Given the description of an element on the screen output the (x, y) to click on. 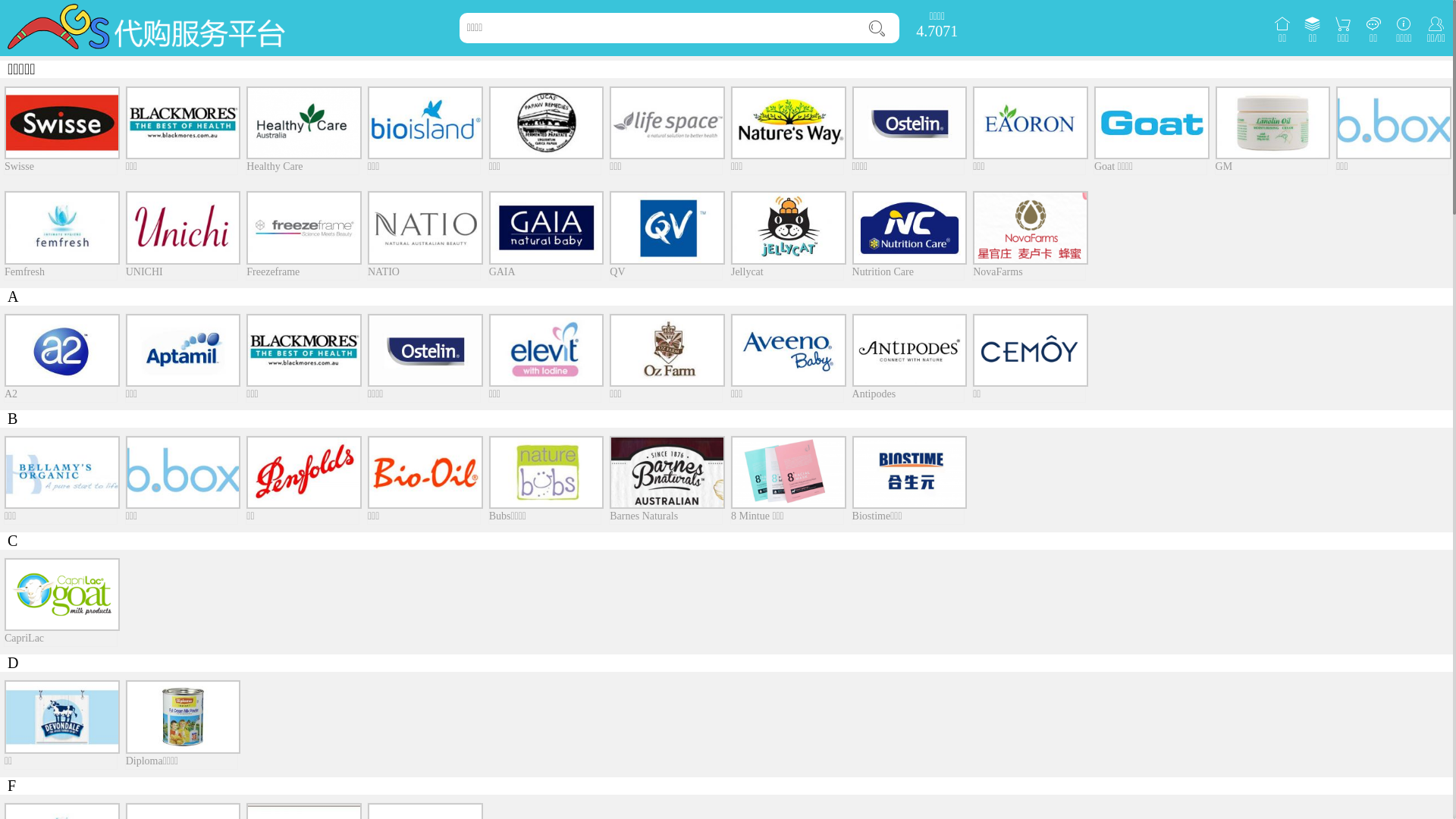
Femfresh Element type: text (60, 235)
NATIO Element type: text (423, 235)
Swisse Element type: text (60, 130)
Jellycat Element type: text (787, 235)
Barnes Naturals Element type: text (665, 480)
CapriLac Element type: text (60, 602)
NovaFarms Element type: text (1028, 235)
A2 Element type: text (60, 357)
Freezeframe Element type: text (302, 235)
QV Element type: text (665, 235)
GM Element type: text (1271, 130)
UNICHI Element type: text (181, 235)
Nutrition Care Element type: text (908, 235)
GAIA Element type: text (545, 235)
Healthy Care Element type: text (302, 130)
Antipodes Element type: text (908, 357)
